Given the description of an element on the screen output the (x, y) to click on. 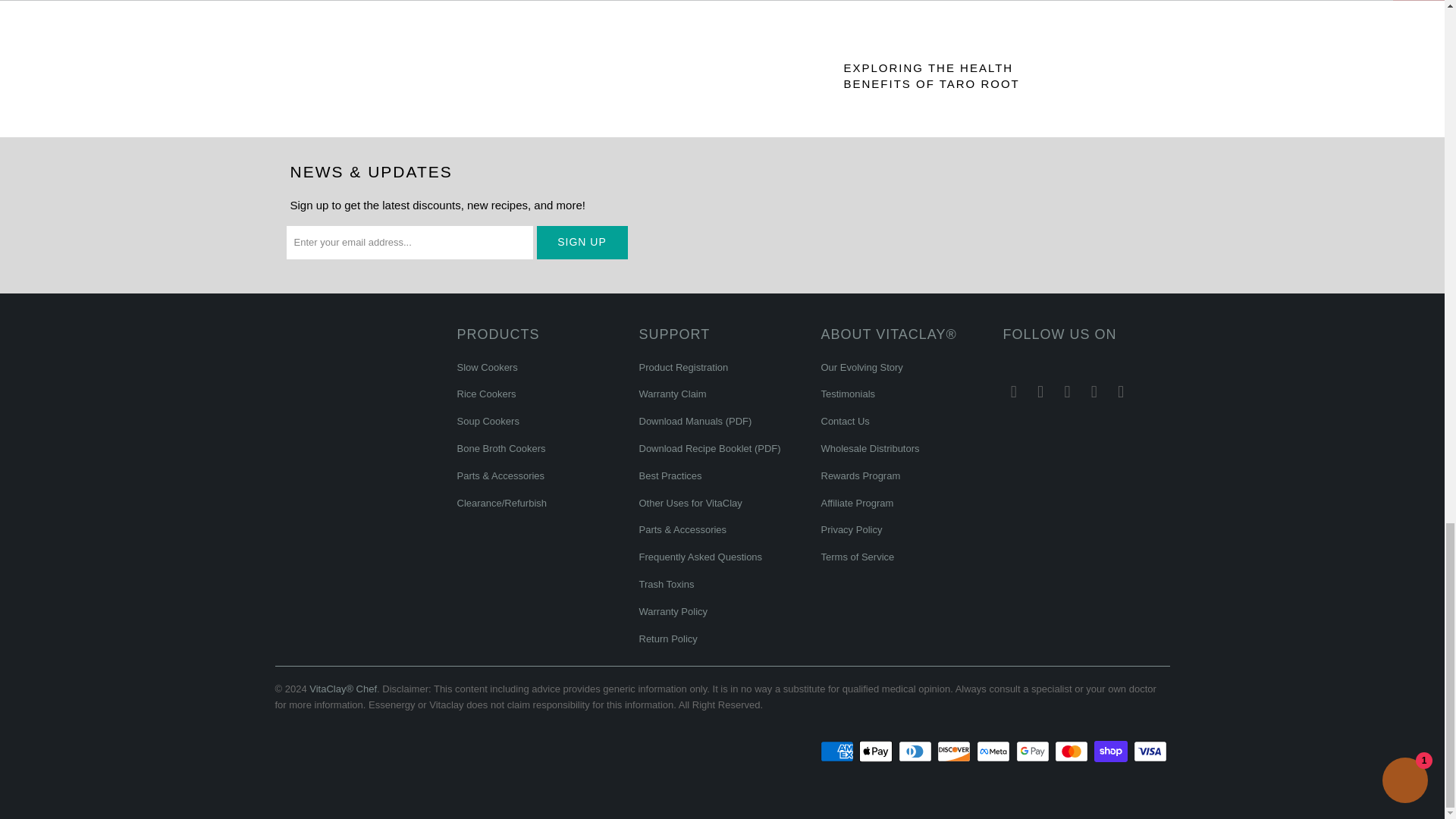
American Express (839, 751)
Google Pay (1034, 751)
Shop Pay (1112, 751)
Discover (955, 751)
Meta Pay (994, 751)
Sign Up (582, 242)
Apple Pay (877, 751)
Mastercard (1072, 751)
Diners Club (916, 751)
Visa (1150, 751)
